Given the description of an element on the screen output the (x, y) to click on. 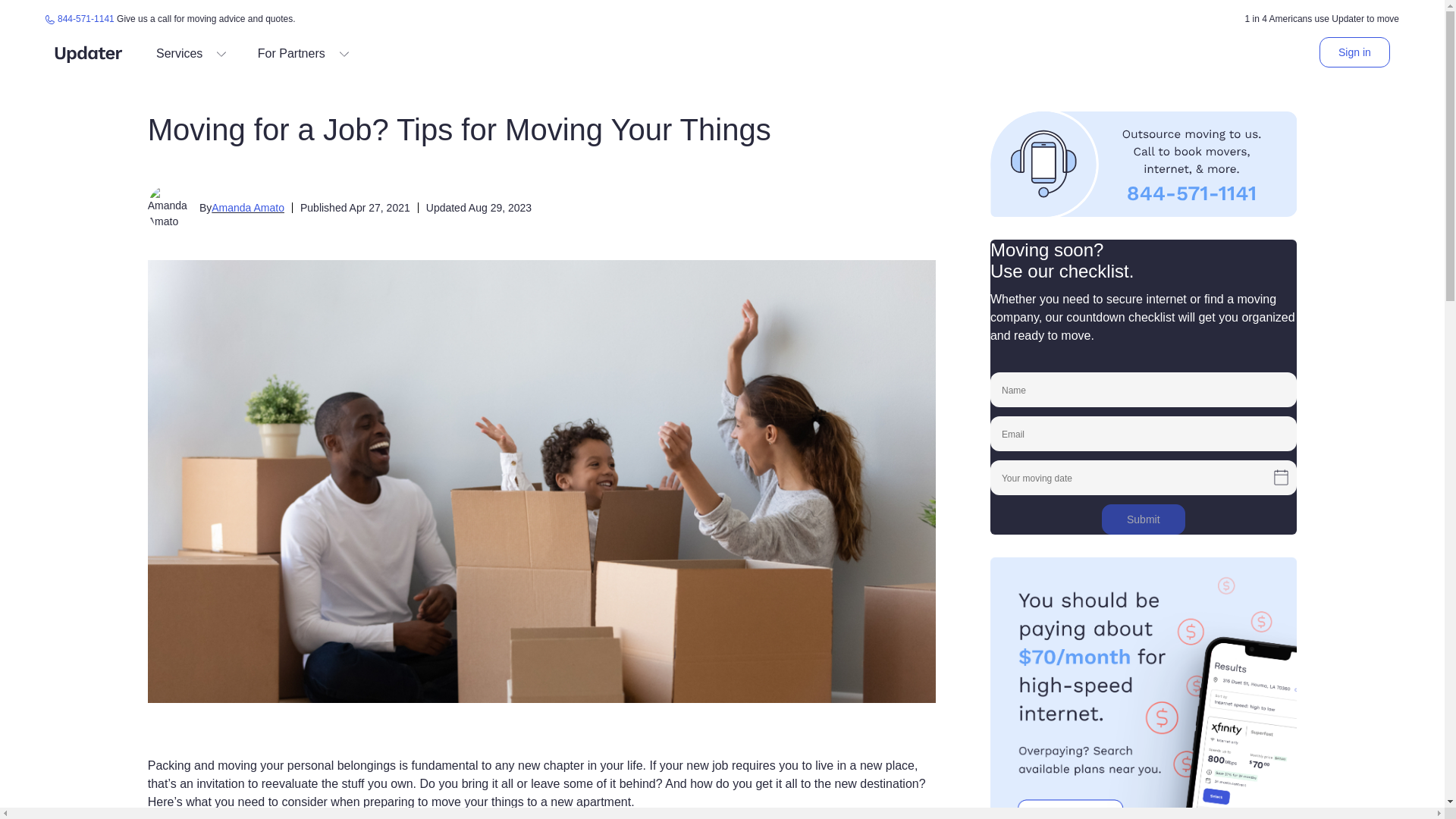
For Partners (304, 52)
Services (192, 52)
844-571-1141 (80, 18)
Updater (88, 52)
Sign in (1354, 51)
